Given the description of an element on the screen output the (x, y) to click on. 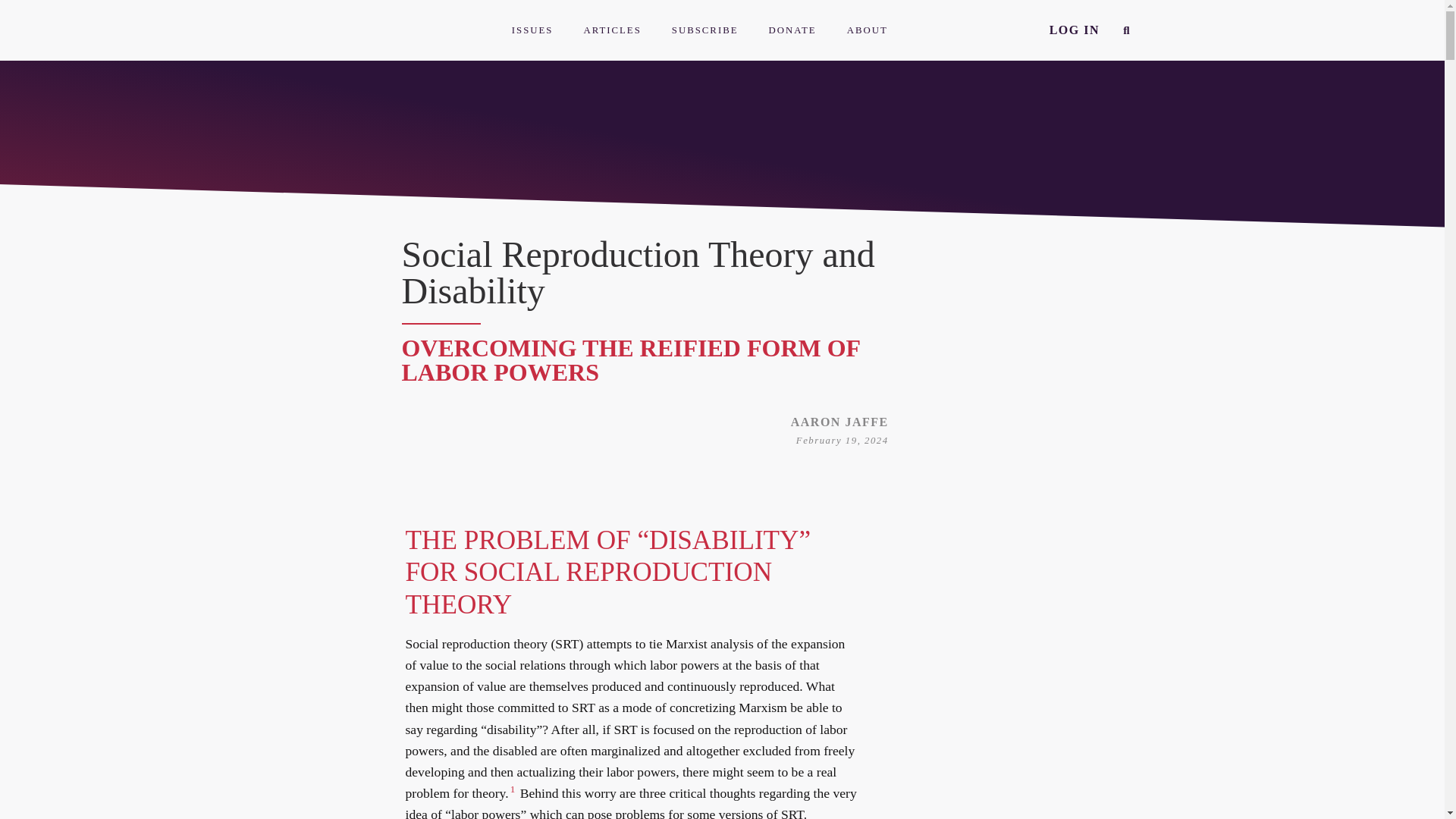
SUBSCRIBE (705, 30)
LOG IN (1074, 30)
ARTICLES (611, 30)
ISSUES (532, 30)
DONATE (792, 30)
AARON JAFFE (839, 421)
ABOUT (866, 30)
